Given the description of an element on the screen output the (x, y) to click on. 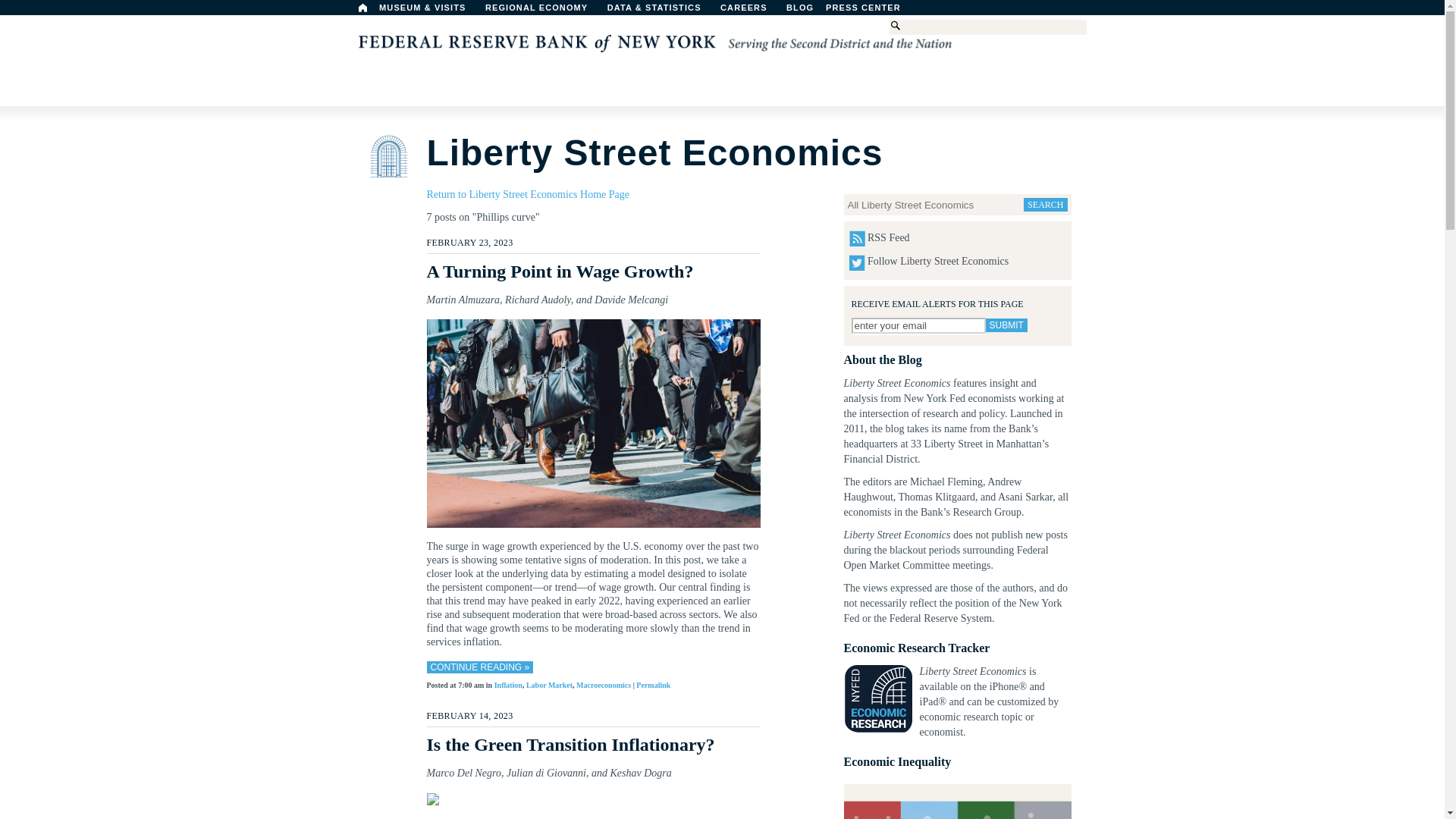
CAREERS (751, 11)
Submit (1006, 325)
PRESS CENTER (870, 11)
enter your email (917, 325)
Home (362, 8)
REGIONAL ECONOMY (543, 11)
BLOG (839, 11)
